Given the description of an element on the screen output the (x, y) to click on. 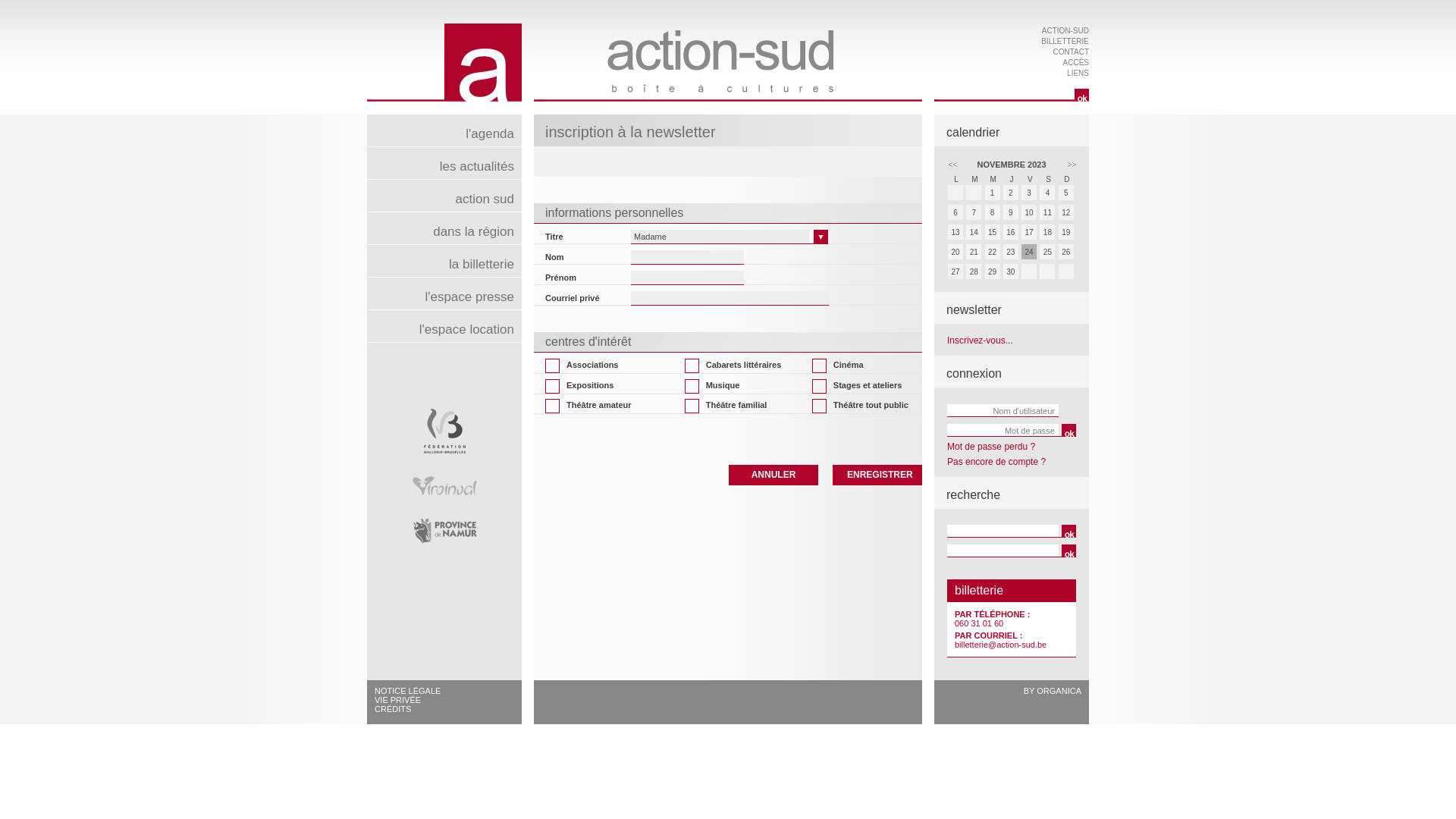
4 Element type: text (1046, 192)
29 Element type: text (993, 272)
26 Element type: text (1065, 251)
ENREGISTRER Element type: text (877, 474)
26 Element type: text (1066, 253)
lieu Element type: hover (1002, 550)
18 Element type: text (1046, 231)
14 Element type: text (973, 231)
17 Element type: text (1028, 231)
13 Element type: text (956, 233)
9 Element type: text (1010, 211)
12 Element type: text (1066, 213)
5 Element type: text (1066, 193)
RECHERCHE Element type: hover (1013, 93)
21 Element type: text (973, 251)
action sud Element type: text (444, 194)
27 Element type: text (955, 271)
billetterie@action-sud.be Element type: text (1000, 644)
17 Element type: text (1029, 233)
25 Element type: text (1047, 253)
16 Element type: text (1010, 231)
28 Element type: text (974, 272)
la billetterie Element type: text (444, 260)
24 Element type: text (1029, 253)
22 Element type: text (992, 251)
9 Element type: text (1011, 213)
3 Element type: text (1028, 192)
10 Element type: text (1028, 211)
Mot de passe perdu ? Element type: text (991, 446)
13 Element type: text (955, 231)
CONTACT Element type: text (1070, 51)
6 Element type: text (956, 213)
NOVEMBRE 2023 Element type: text (1010, 164)
2 Element type: text (1011, 193)
8 Element type: text (992, 211)
29 Element type: text (992, 271)
12 Element type: text (1065, 211)
18 Element type: text (1047, 233)
ACTION-SUD Element type: text (1064, 30)
19 Element type: text (1065, 231)
27 Element type: text (956, 272)
Pas encore de compte ? Element type: text (996, 461)
28 Element type: text (973, 271)
5 Element type: text (1065, 192)
Inscrivez-vous... Element type: text (980, 340)
1 Element type: text (992, 192)
30 Element type: text (1011, 272)
l'espace location Element type: text (444, 325)
30 Element type: text (1010, 271)
l'espace presse Element type: text (444, 292)
4 Element type: text (1047, 193)
BY ORGANICA Element type: text (1052, 690)
10 Element type: text (1029, 213)
14 Element type: text (974, 233)
ANNULER Element type: text (773, 474)
20 Element type: text (956, 253)
16 Element type: text (1011, 233)
15 Element type: text (992, 231)
11 Element type: text (1046, 211)
8 Element type: text (993, 213)
BILLETTERIE Element type: text (1064, 41)
23 Element type: text (1010, 251)
1 Element type: text (993, 193)
7 Element type: text (973, 211)
2 Element type: text (1010, 192)
21 Element type: text (974, 253)
15 Element type: text (993, 233)
20 Element type: text (955, 251)
l'agenda Element type: text (444, 130)
24 Element type: text (1028, 251)
3 Element type: text (1029, 193)
titre Element type: hover (1002, 530)
11 Element type: text (1047, 213)
25 Element type: text (1046, 251)
LIENS Element type: text (1077, 73)
7 Element type: text (974, 213)
22 Element type: text (993, 253)
23 Element type: text (1011, 253)
6 Element type: text (955, 211)
19 Element type: text (1066, 233)
